Given the description of an element on the screen output the (x, y) to click on. 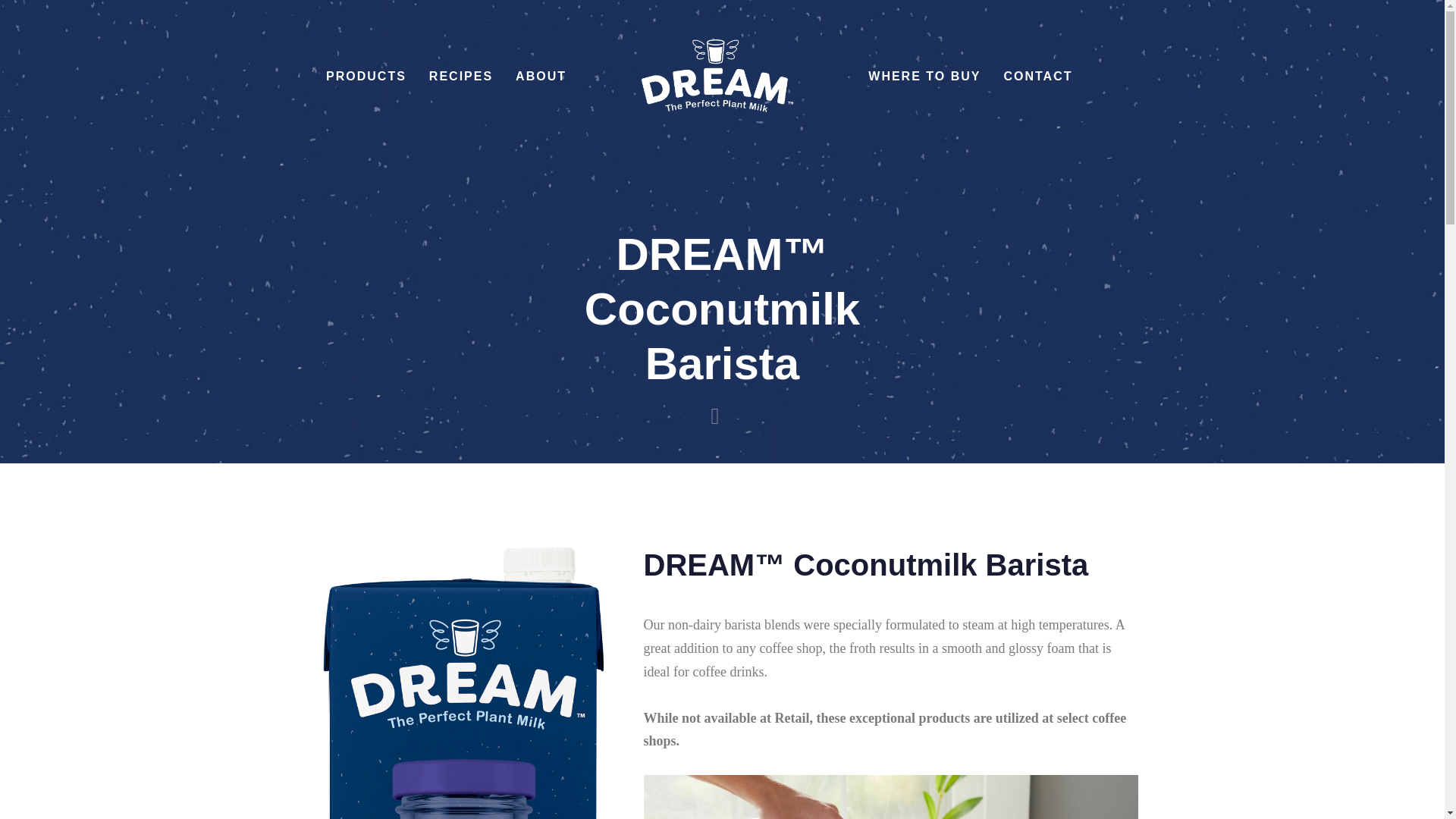
WHERE TO BUY (924, 75)
